Given the description of an element on the screen output the (x, y) to click on. 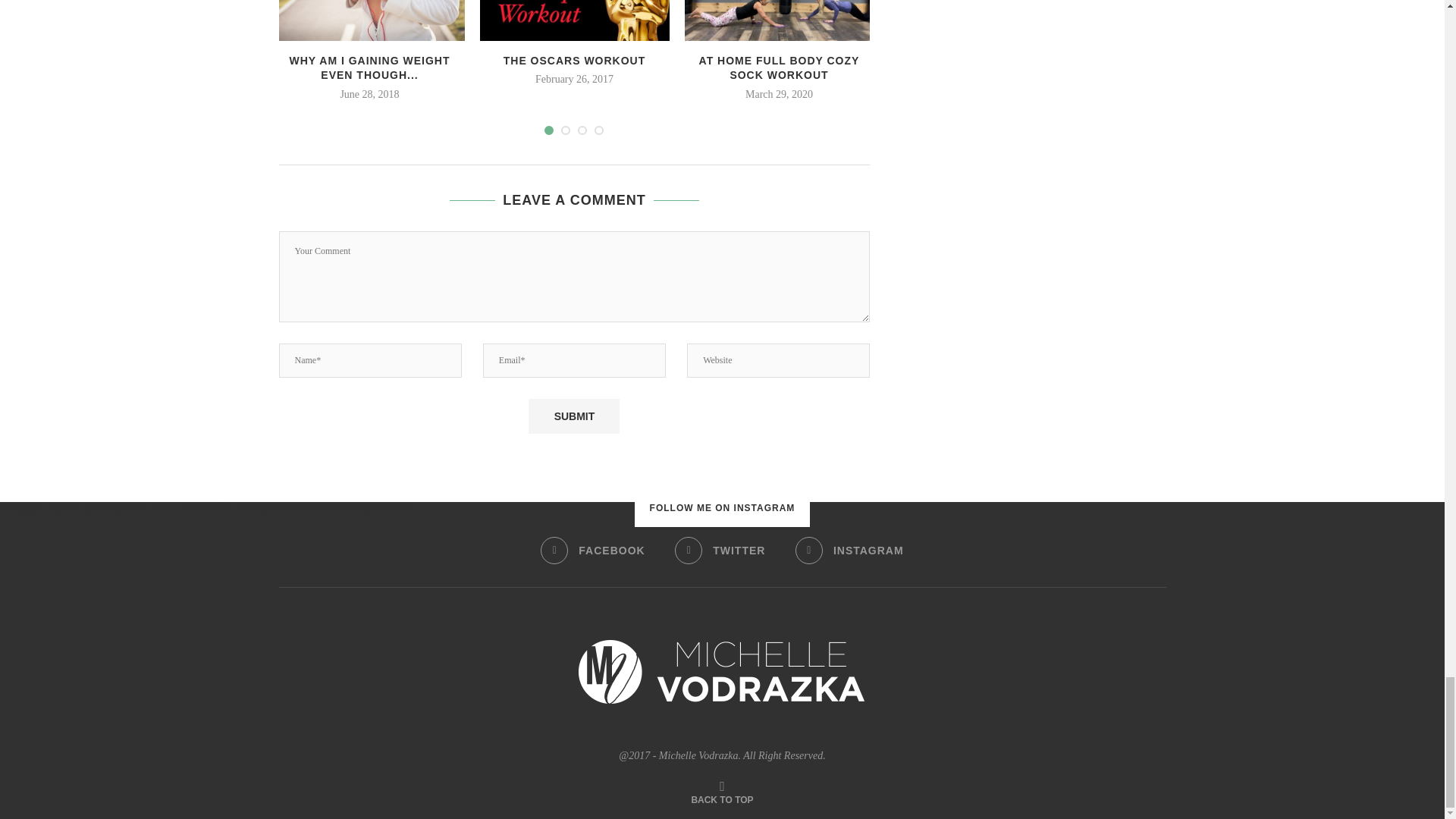
Submit (574, 416)
